Given the description of an element on the screen output the (x, y) to click on. 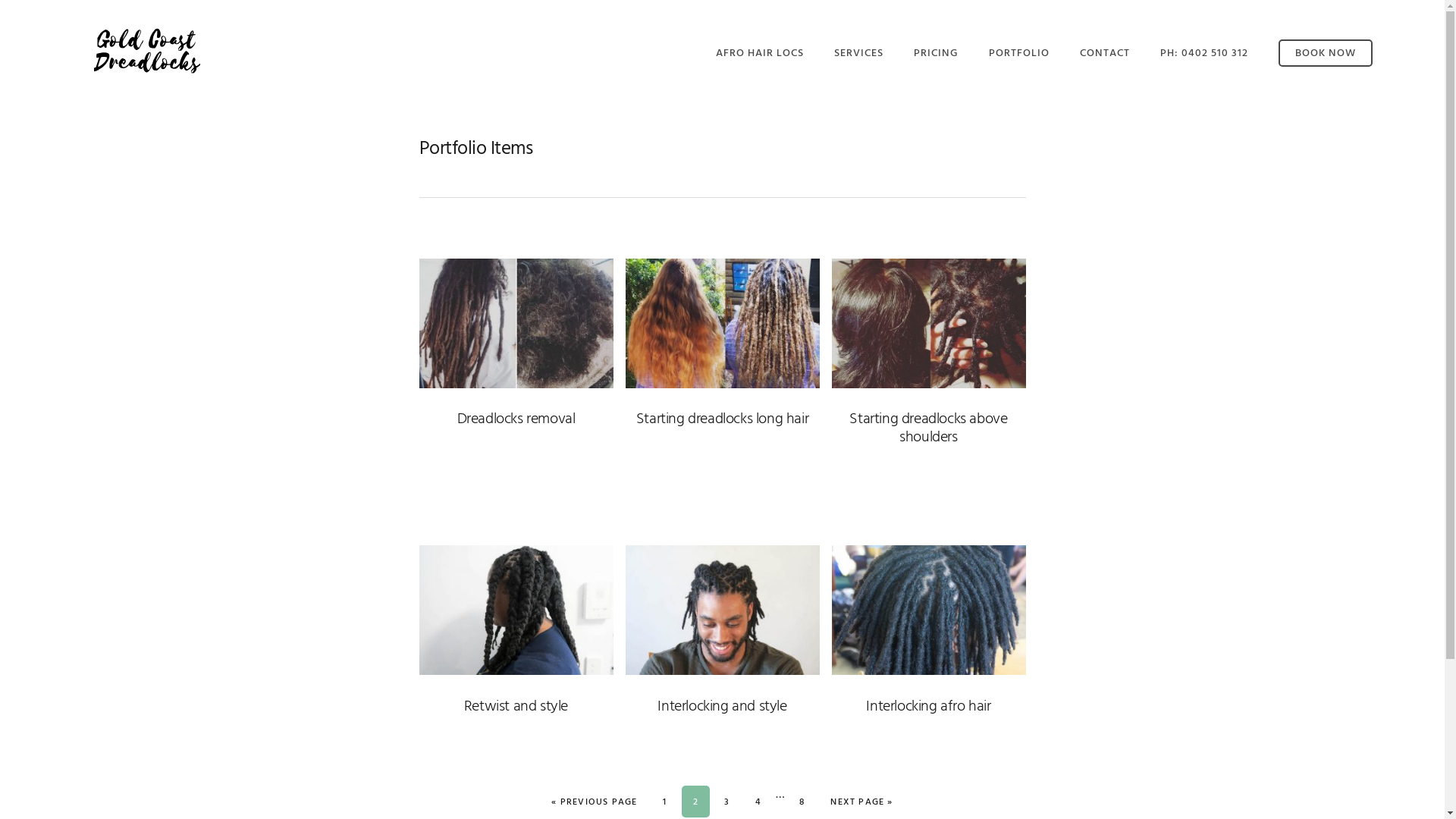
GO TO PAGE
3 Element type: text (726, 801)
AFRO HAIR LOCS Element type: text (759, 53)
Starting dreadlocks long hair Element type: text (722, 419)
PRICING Element type: text (935, 53)
GO TO PAGE
2 Element type: text (695, 801)
PORTFOLIO Element type: text (1018, 53)
CONTACT Element type: text (1104, 53)
Skip to primary navigation Element type: text (0, 0)
PH: 0402 510 312 Element type: text (1204, 53)
Dreadlocks removal Element type: text (516, 419)
Gold Coast Dreadlocks Element type: text (147, 50)
Interlocking and style Element type: text (721, 706)
Starting dreadlocks above shoulders Element type: text (928, 428)
SERVICES Element type: text (858, 53)
Interlocking afro hair Element type: text (928, 706)
GO TO PAGE
4 Element type: text (757, 801)
GO TO PAGE
8 Element type: text (801, 801)
Retwist and style Element type: text (515, 706)
GO TO PAGE
1 Element type: text (664, 801)
BOOK NOW Element type: text (1325, 52)
